Given the description of an element on the screen output the (x, y) to click on. 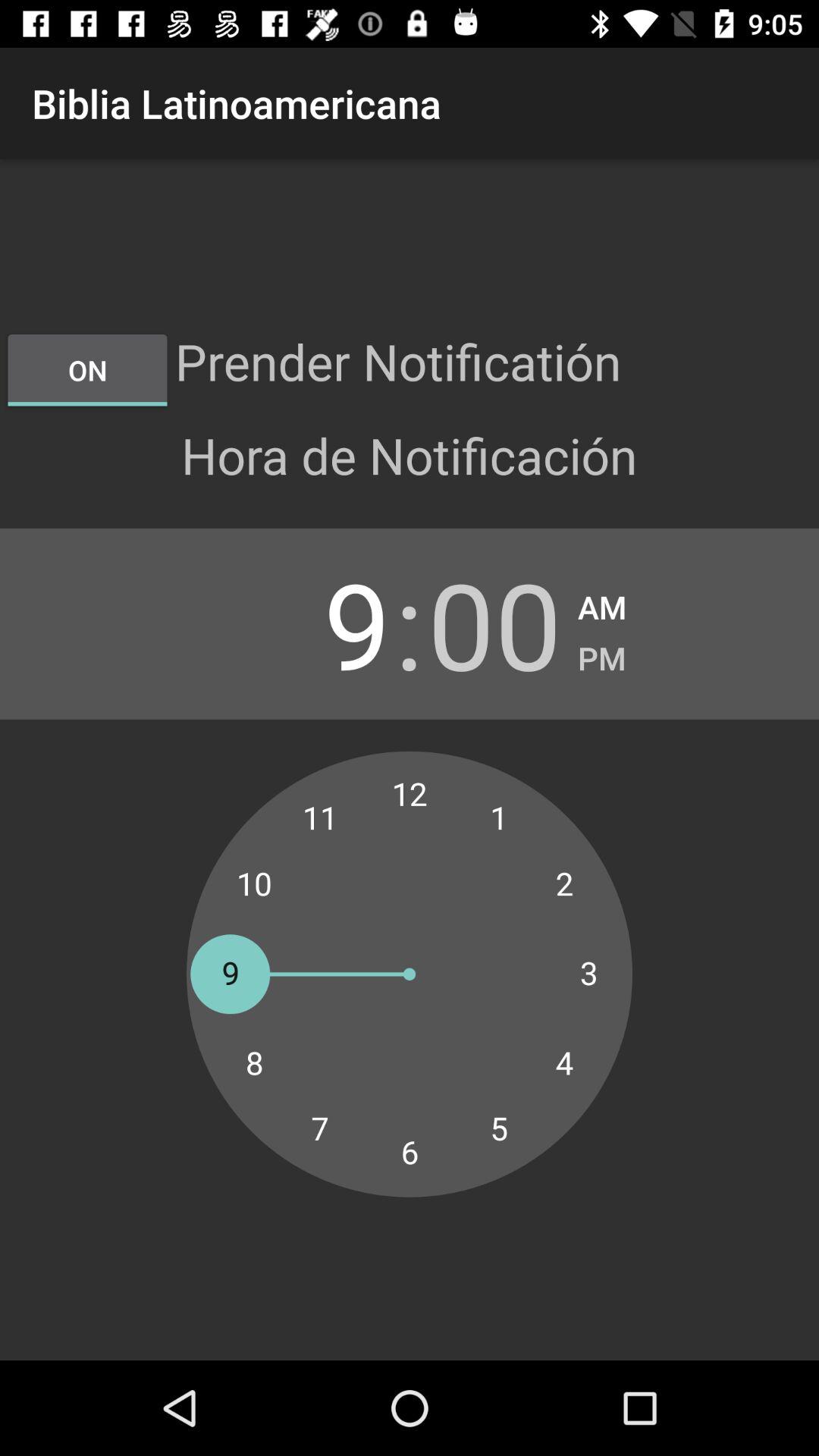
flip to the am checkbox (601, 602)
